Given the description of an element on the screen output the (x, y) to click on. 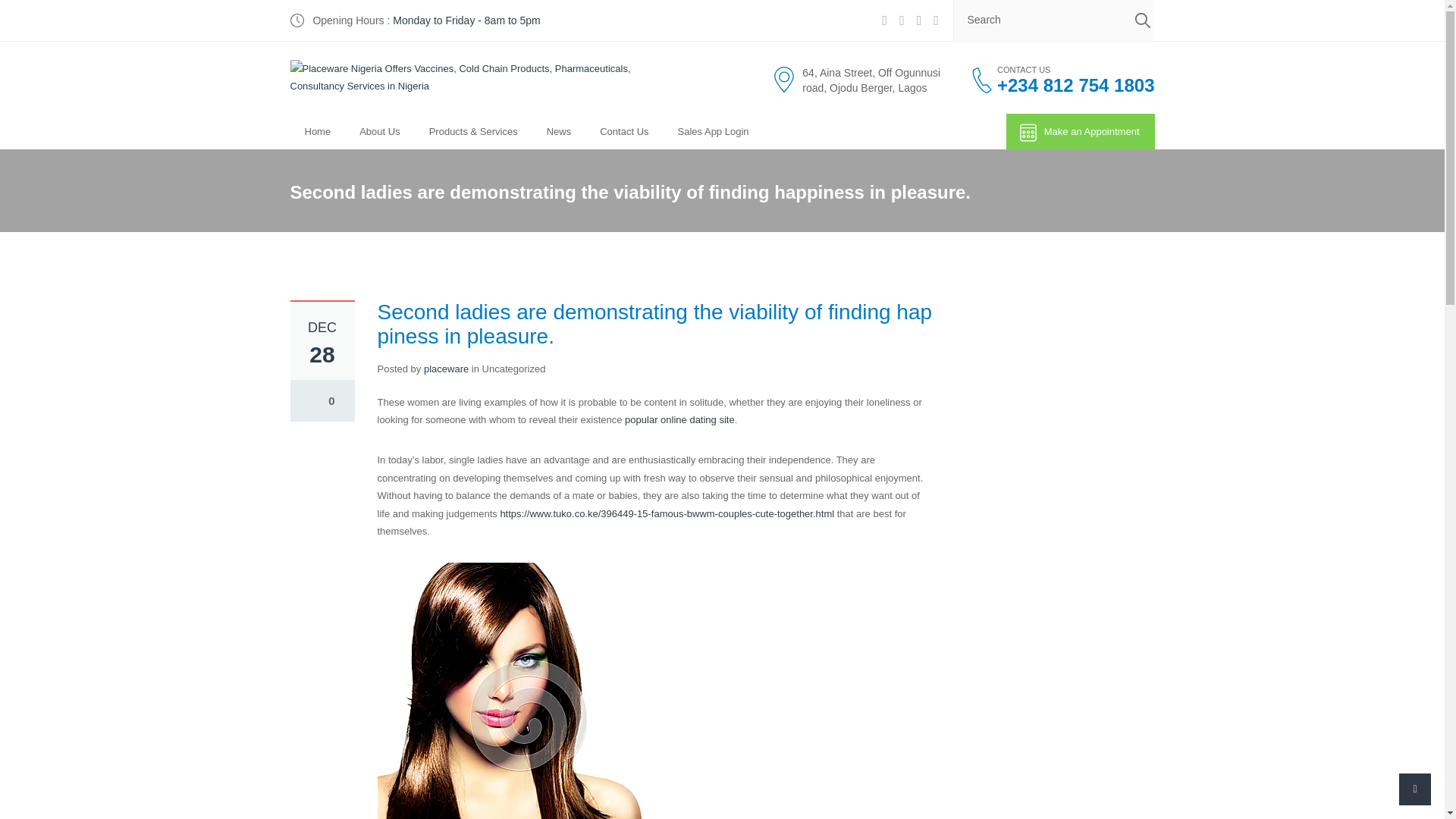
Contact Us (623, 131)
View all posts by placeware (445, 368)
0 (321, 400)
Home (317, 131)
News (559, 131)
placeware (445, 368)
popular online dating site (679, 419)
